Given the description of an element on the screen output the (x, y) to click on. 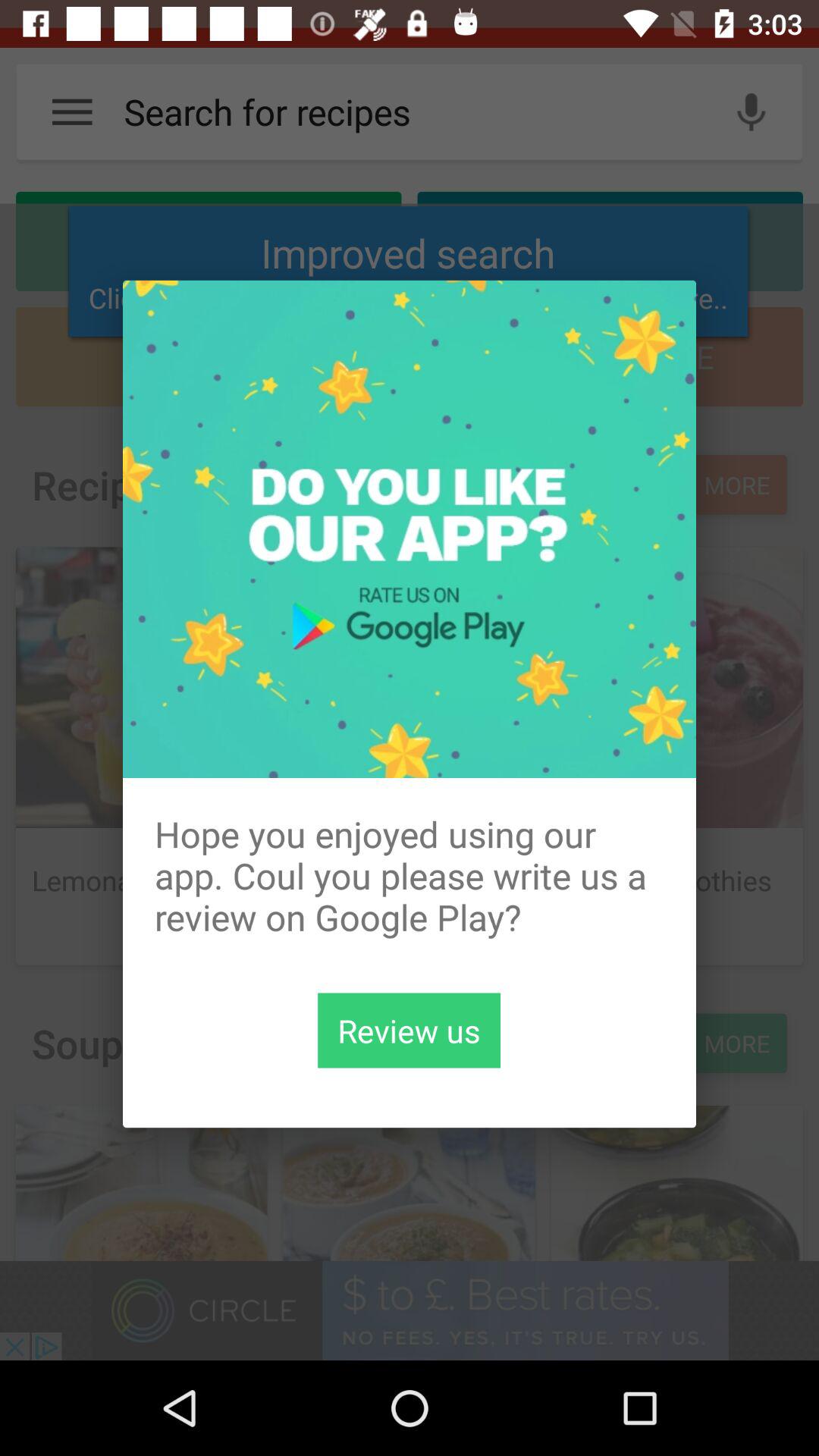
press the icon below the hope you enjoyed (408, 1030)
